Given the description of an element on the screen output the (x, y) to click on. 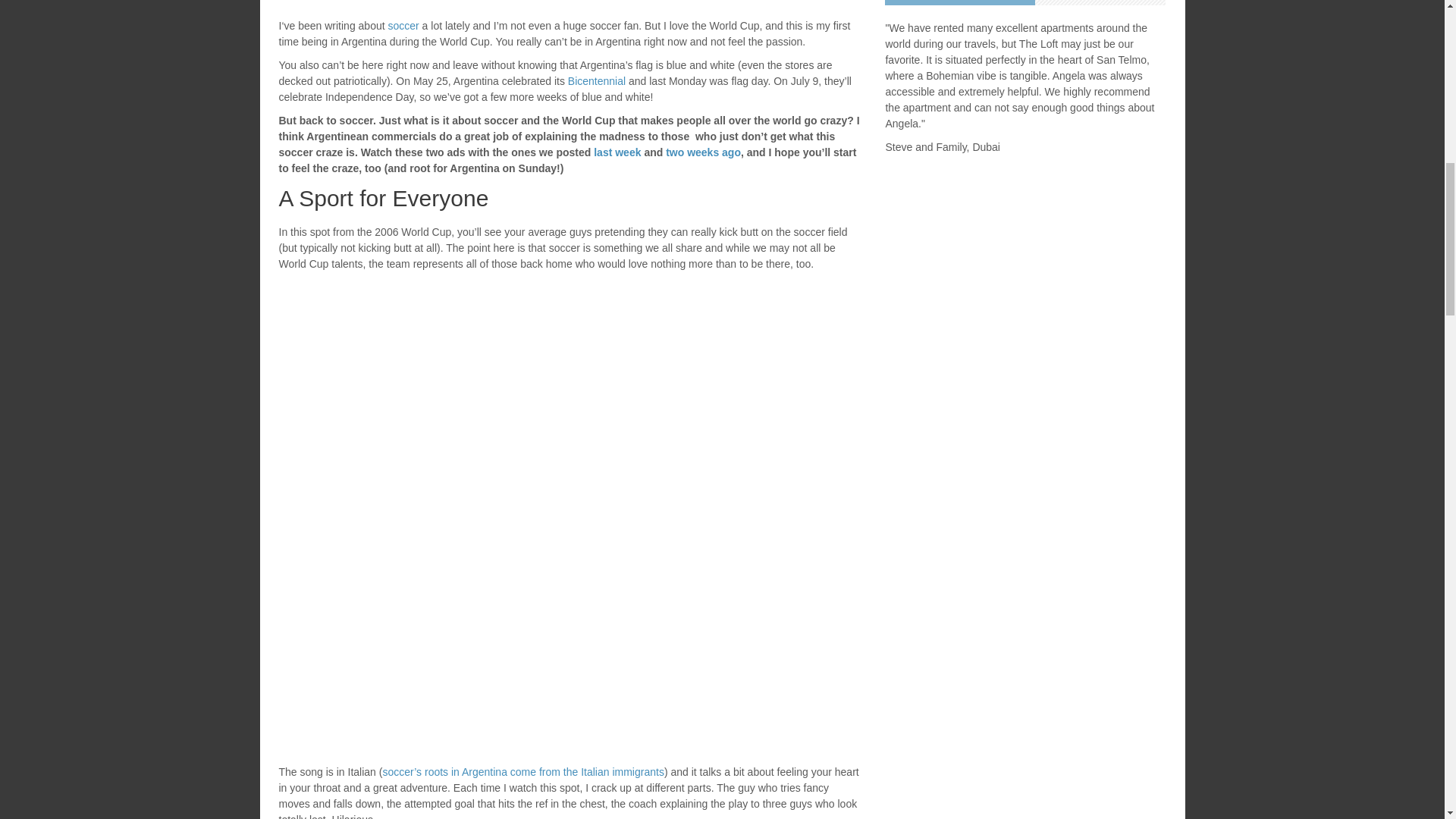
soccer (403, 25)
Boca vs. River (522, 771)
two weeks ago (703, 152)
Vamos, Argentina (618, 152)
Soccer (403, 25)
Bicentenario (596, 80)
World Cup Watching (703, 152)
Bicentennial (596, 80)
last week (618, 152)
